Given the description of an element on the screen output the (x, y) to click on. 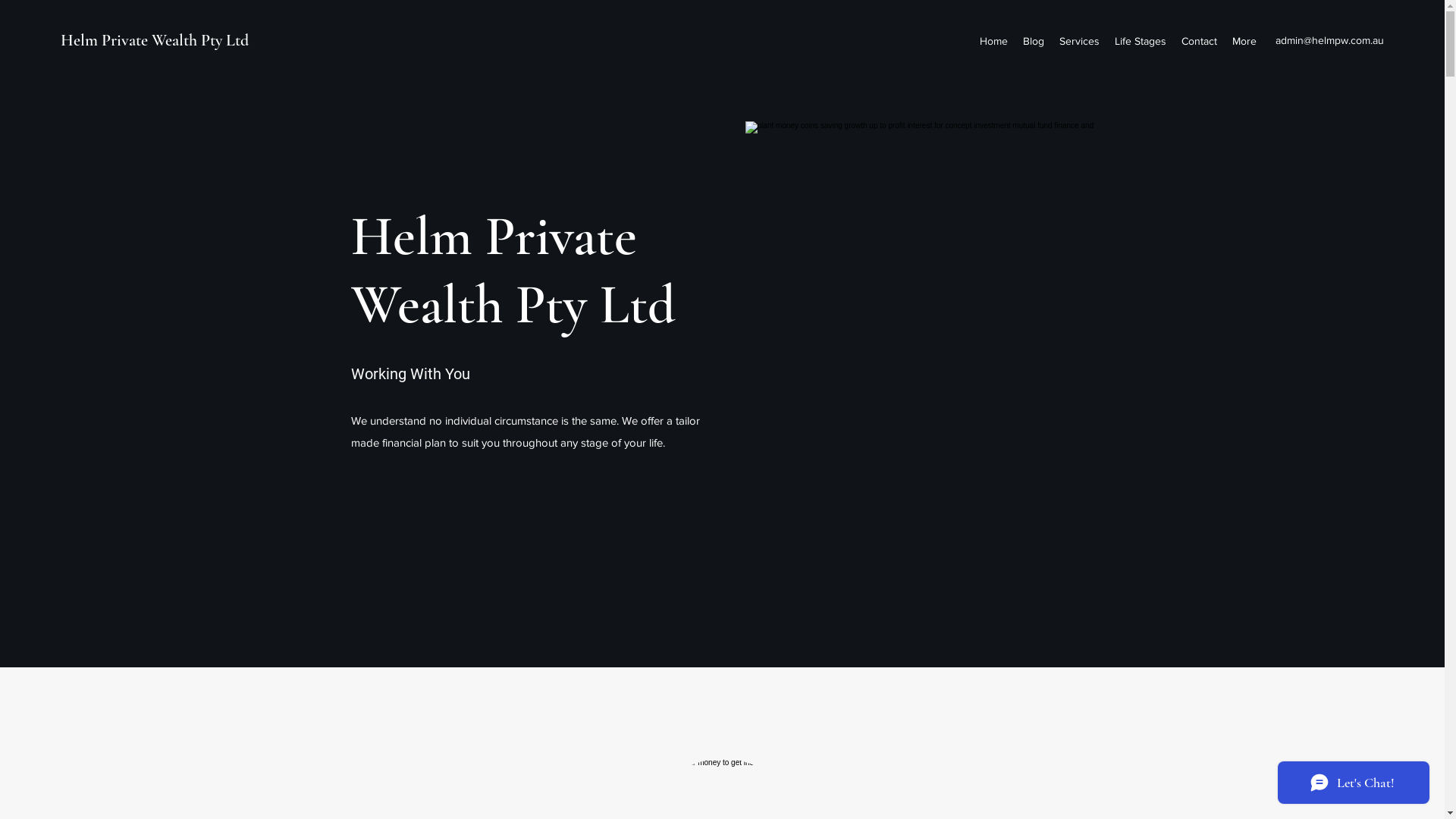
Helm Private Wealth Pty Ltd Element type: text (154, 40)
Services Element type: text (1079, 40)
Contact Element type: text (1198, 40)
admin@helmpw.com.au Element type: text (1329, 40)
Blog Element type: text (1033, 40)
Life Stages Element type: text (1140, 40)
Home Element type: text (993, 40)
